Given the description of an element on the screen output the (x, y) to click on. 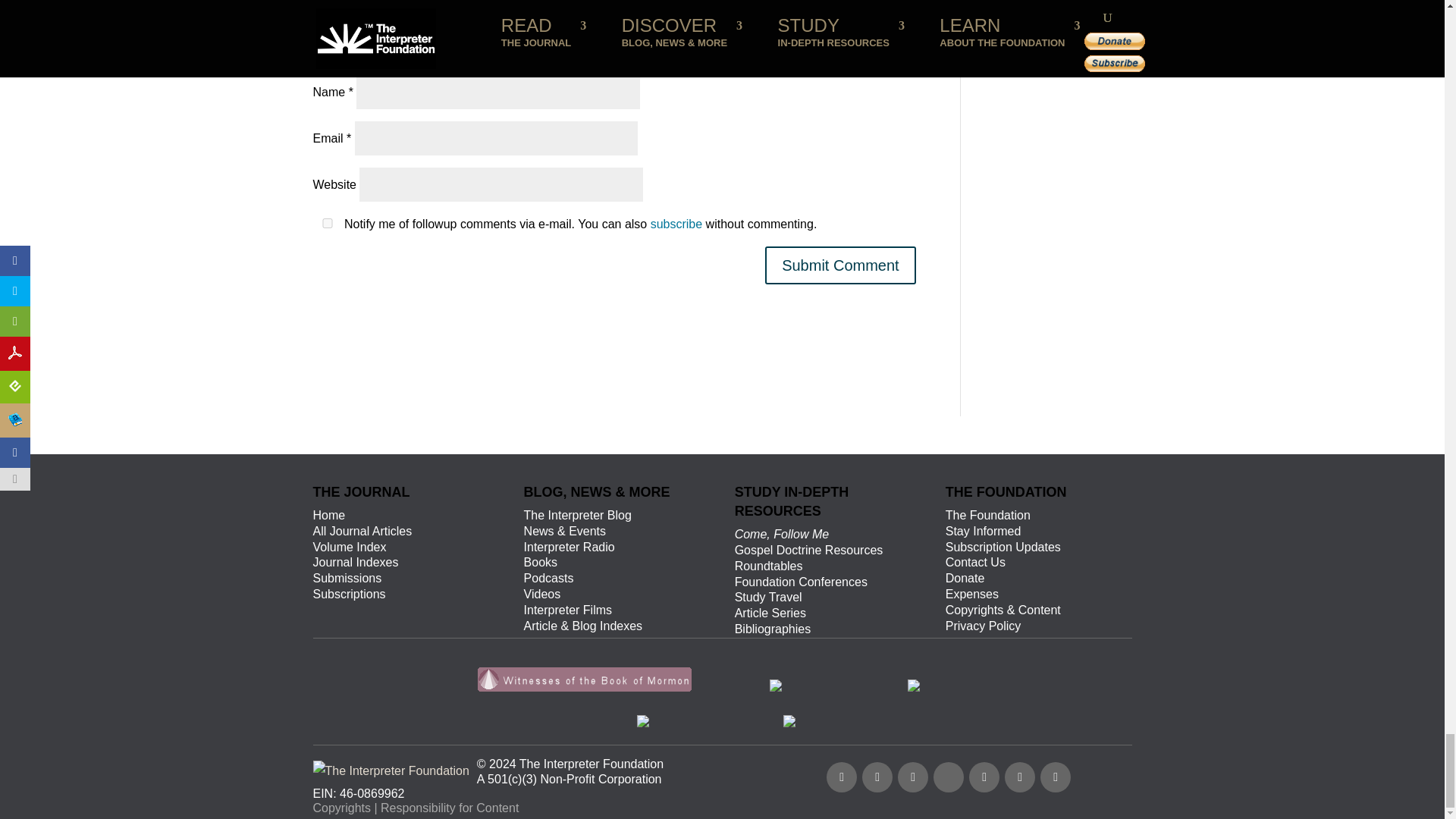
Follow us on YouTube (913, 777)
Follow us on Facebook (842, 777)
Follow us on Twitter (876, 777)
yes (326, 223)
Subscribe to our RSS feeds (1019, 777)
Subscribe to our mailing list or RSS feeds (953, 775)
Submit Comment (840, 265)
Subscribe to our mailing list (1055, 777)
Follow us on Instagram (983, 777)
5000 (342, 57)
